Given the description of an element on the screen output the (x, y) to click on. 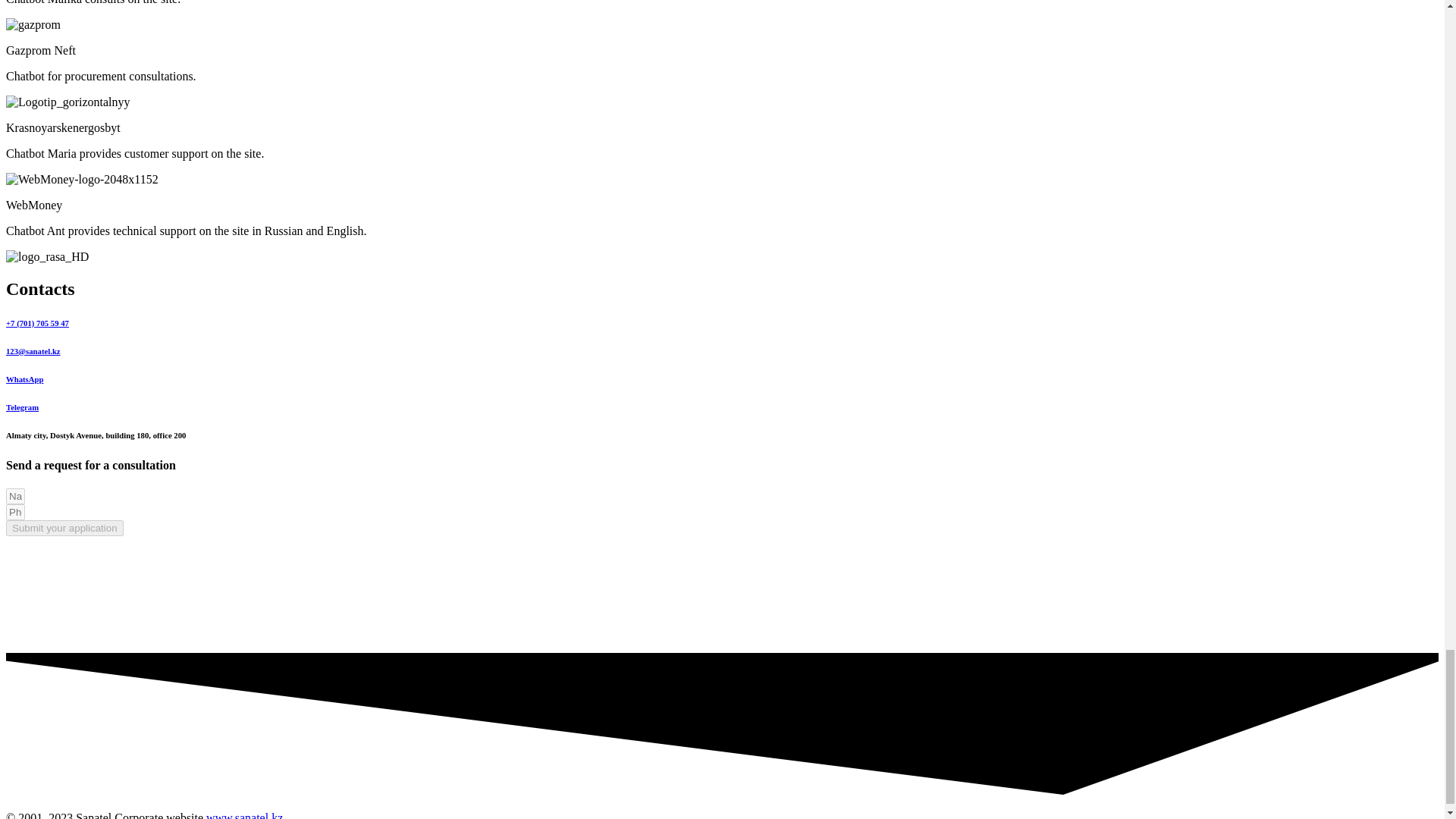
Submit your application (64, 528)
gazprom (33, 24)
Telegram (22, 406)
WhatsApp (24, 379)
